Given the description of an element on the screen output the (x, y) to click on. 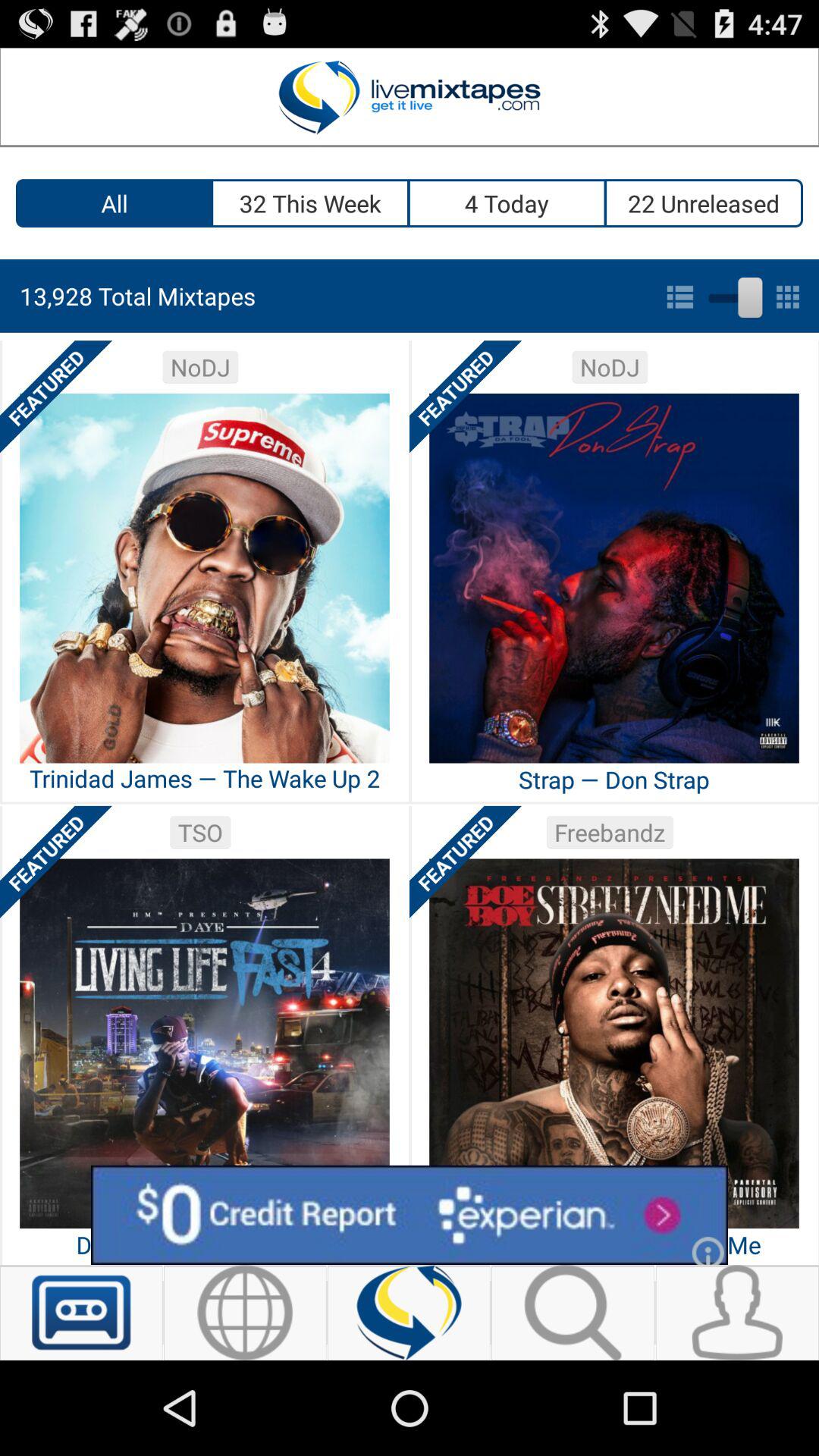
open item above 13 928 total item (507, 203)
